Given the description of an element on the screen output the (x, y) to click on. 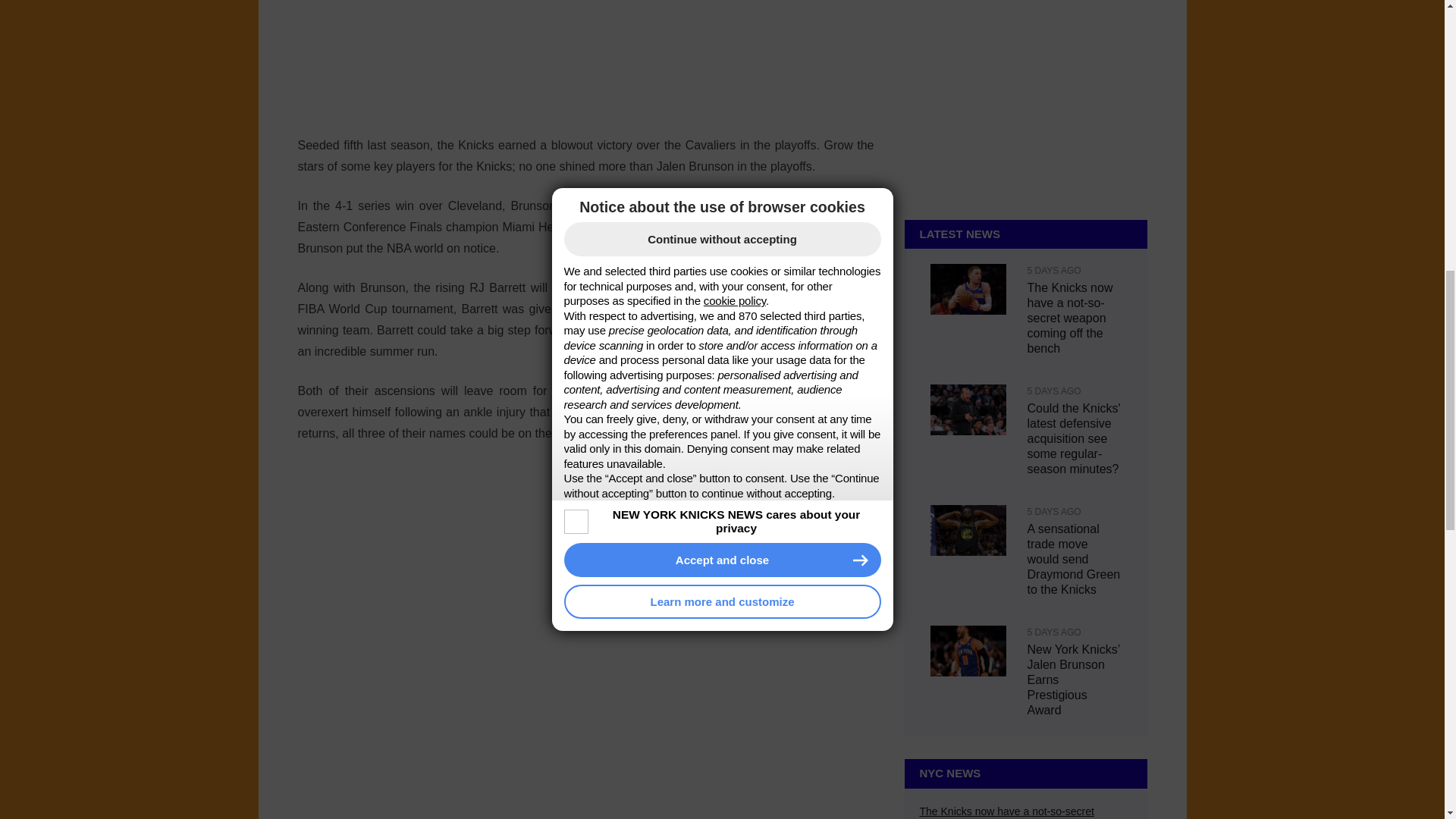
Trail Blazers center would take Knicks to new heights (1013, 783)
